Given the description of an element on the screen output the (x, y) to click on. 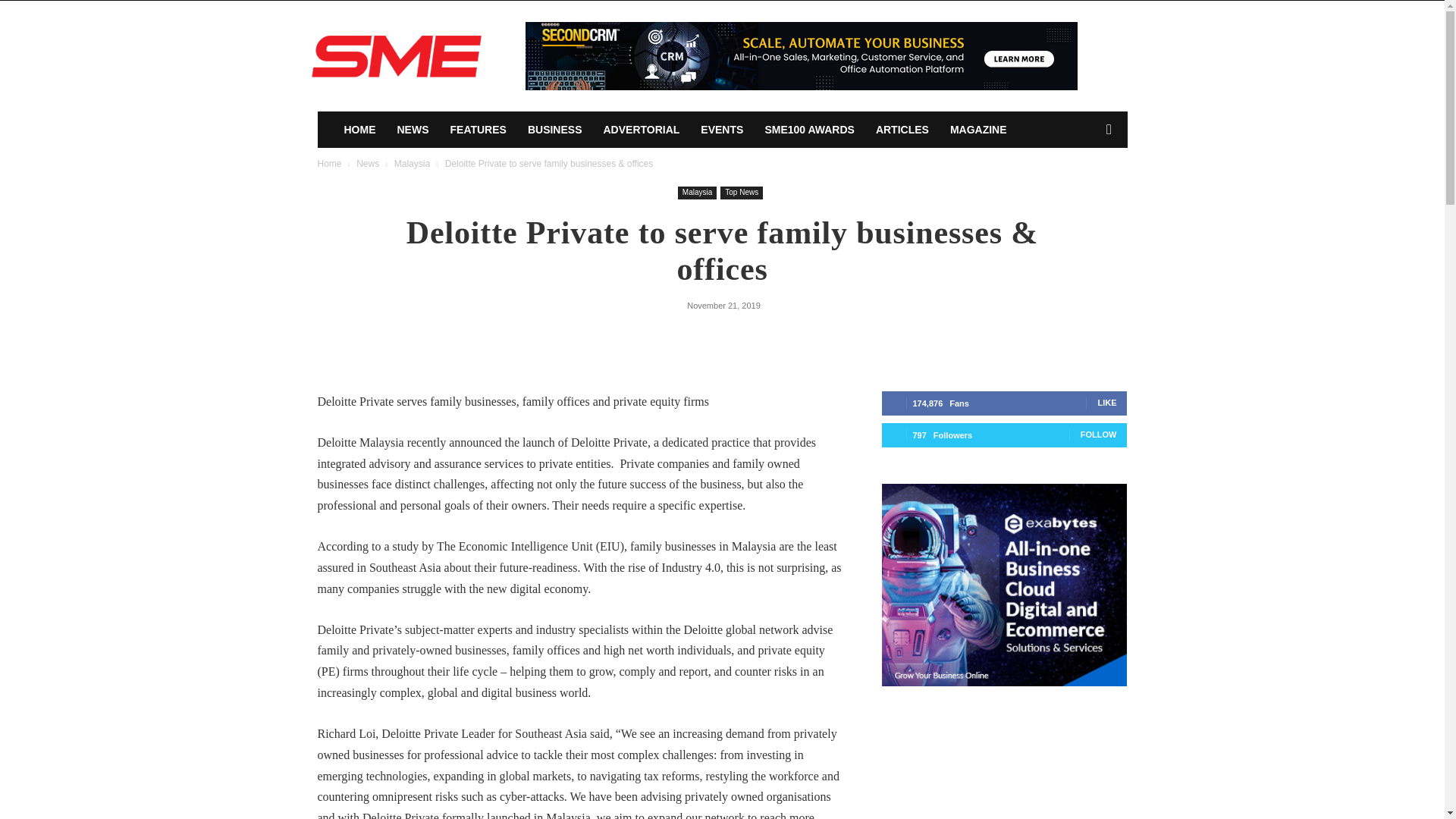
View all posts in Malaysia (411, 163)
View all posts in News (367, 163)
